Given the description of an element on the screen output the (x, y) to click on. 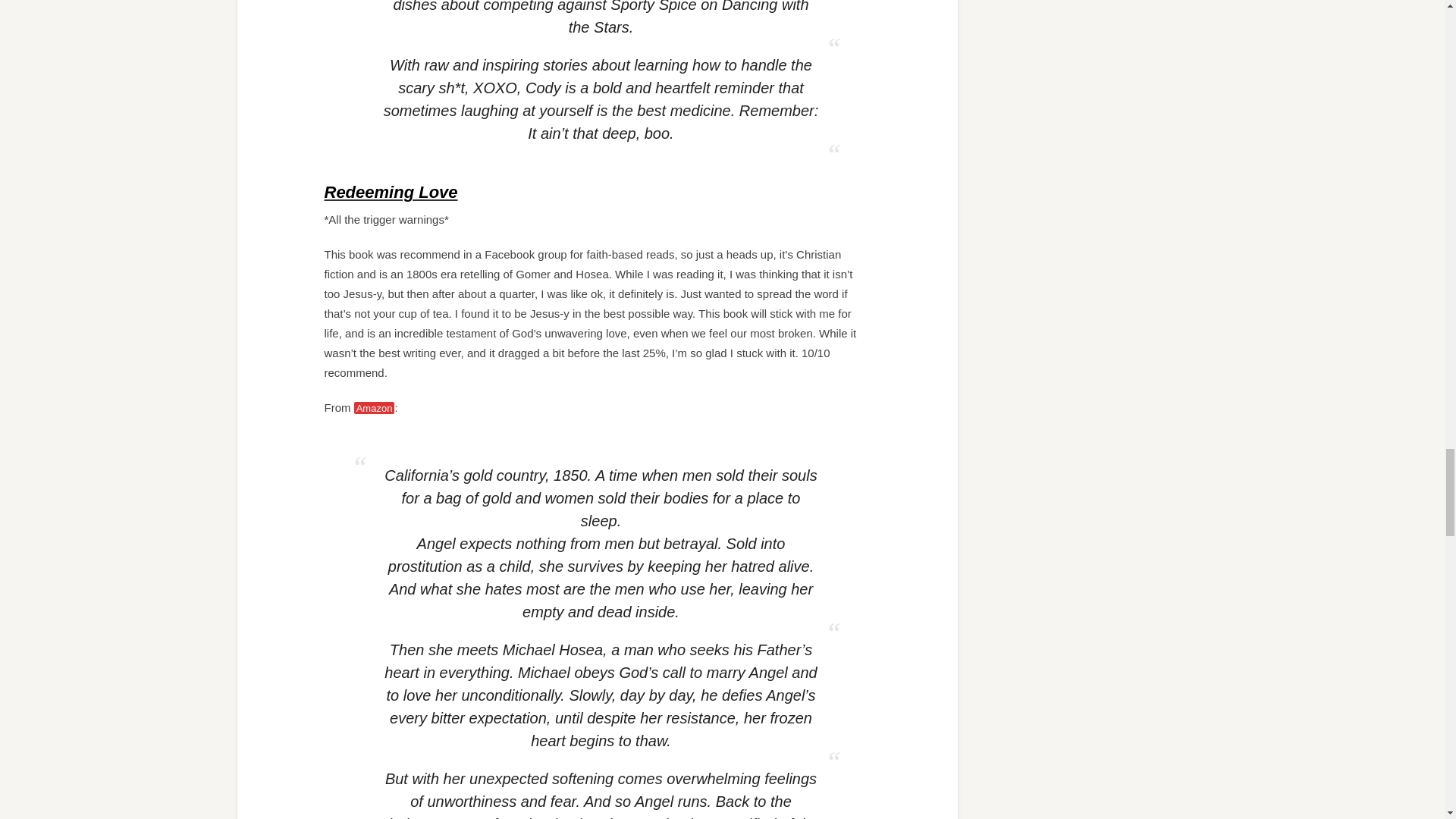
Redeeming Love (391, 191)
Amazon (373, 408)
